Given the description of an element on the screen output the (x, y) to click on. 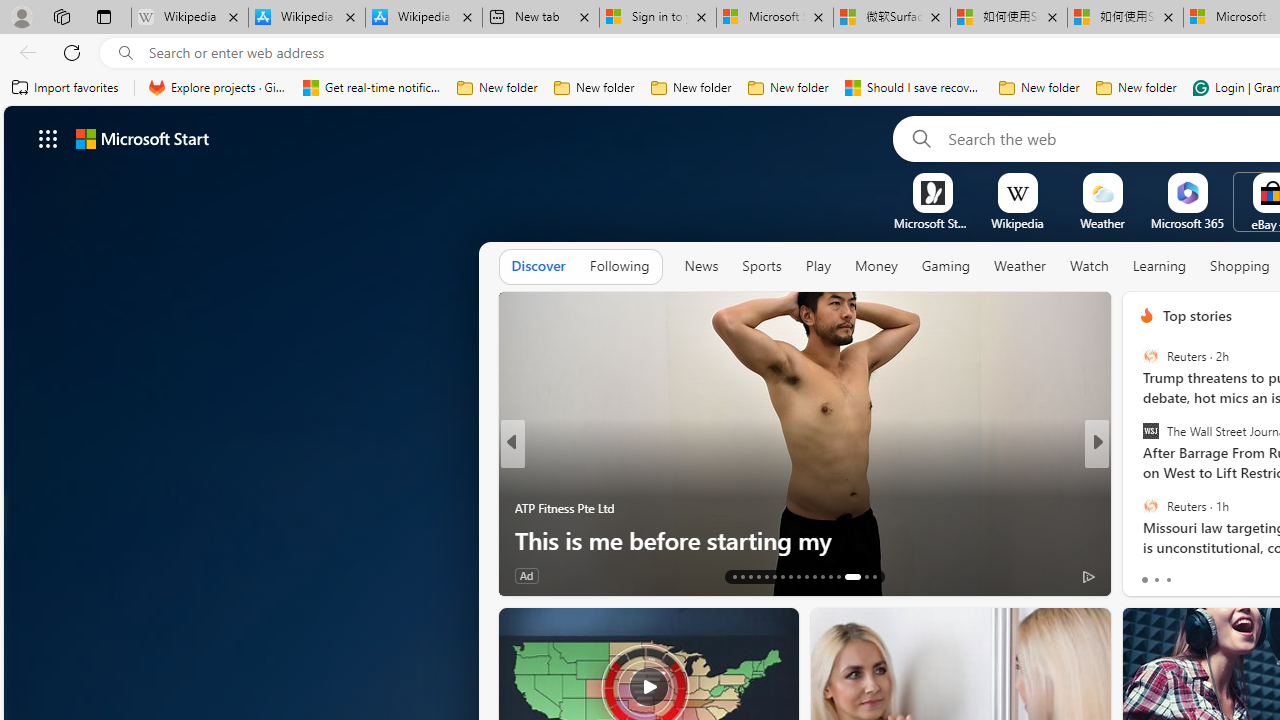
tab-2 (1168, 579)
AutomationID: tab-13 (733, 576)
AutomationID: tab-15 (750, 576)
You're following Newsweek (445, 579)
Should I save recovered Word documents? - Microsoft Support (913, 88)
AutomationID: tab-29 (874, 576)
AutomationID: tab-26 (838, 576)
90 Like (532, 574)
App launcher (47, 138)
